Given the description of an element on the screen output the (x, y) to click on. 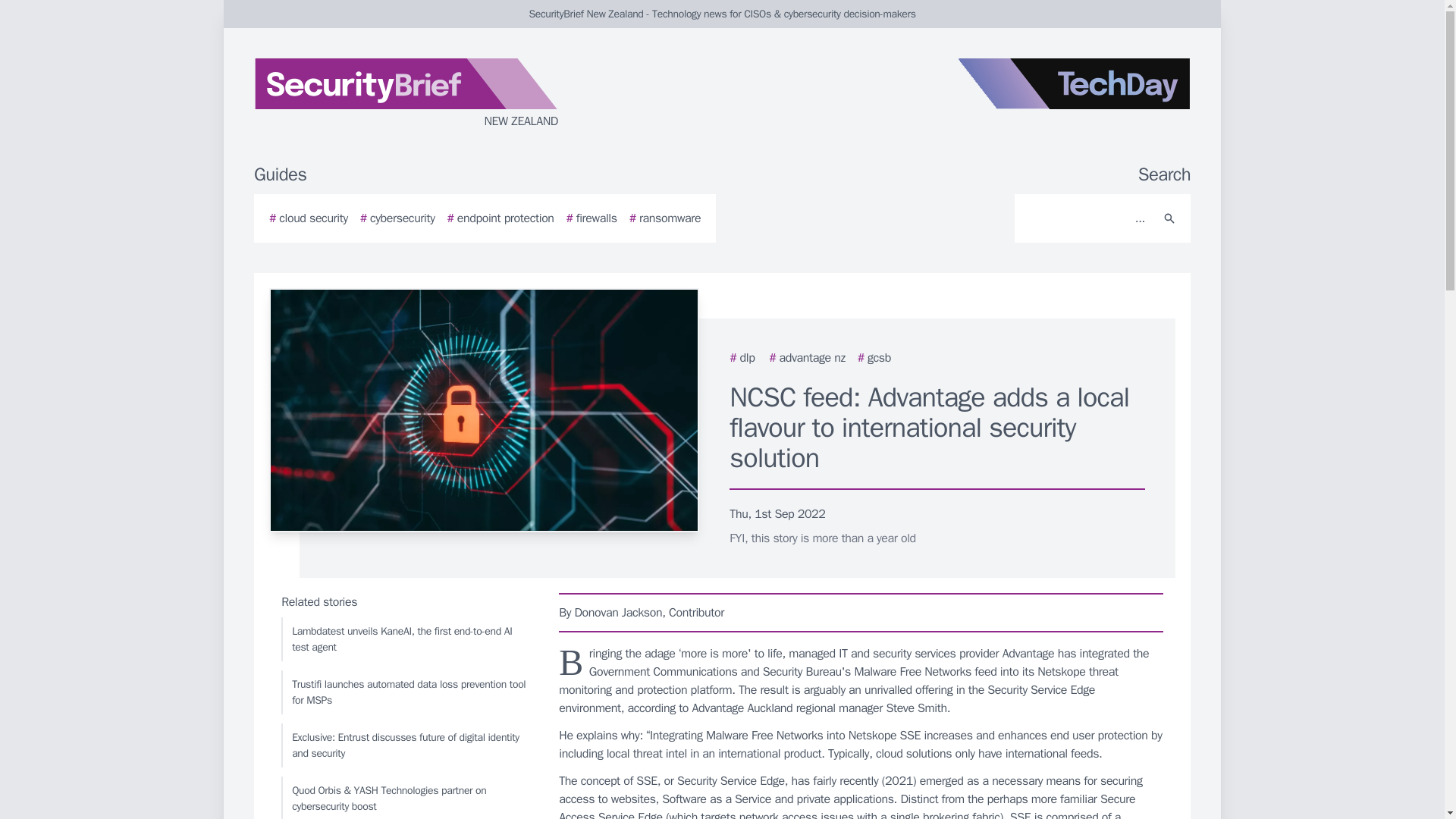
NEW ZEALAND (435, 94)
By Donovan Jackson, Contributor (861, 612)
